Given the description of an element on the screen output the (x, y) to click on. 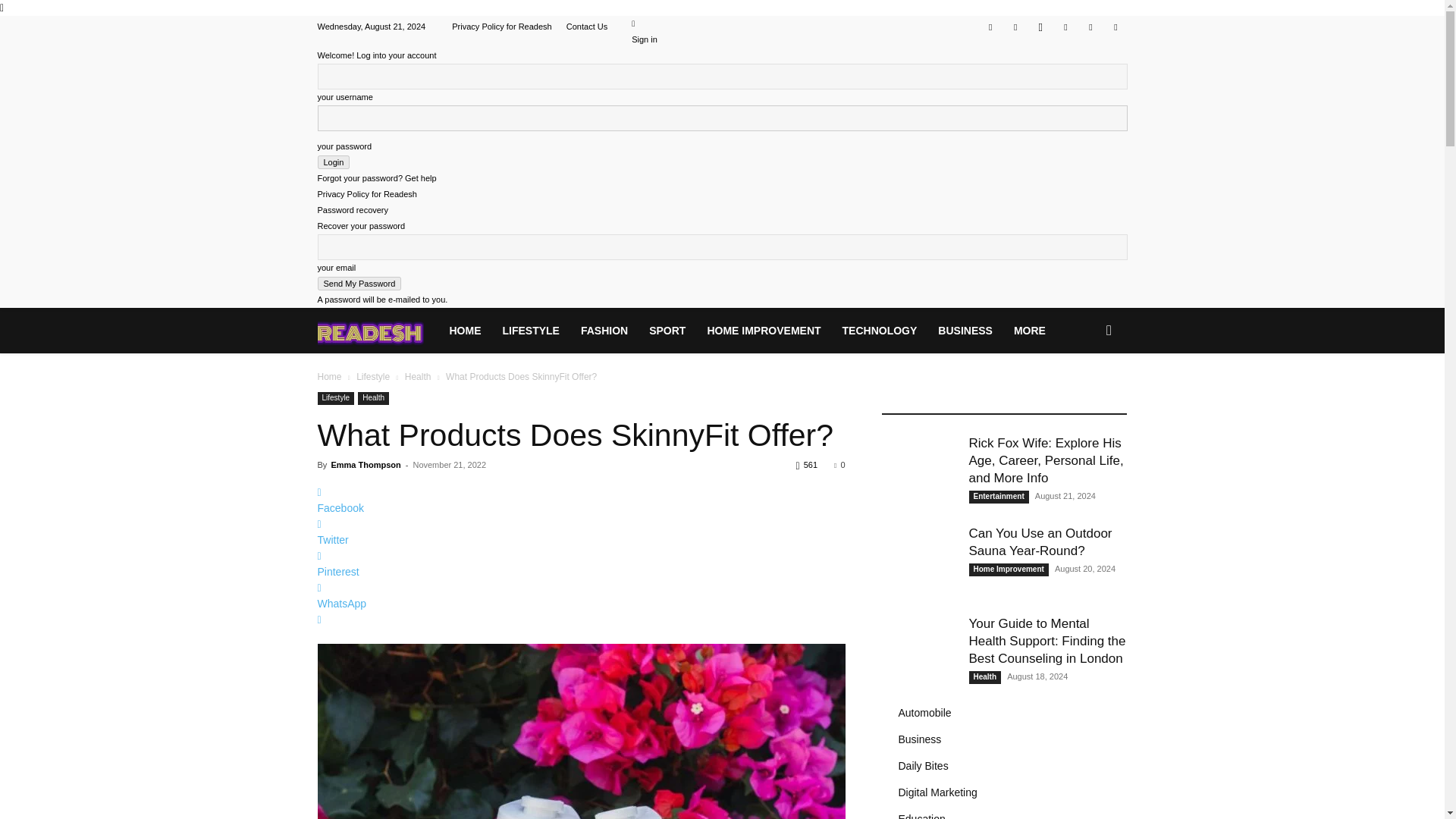
Facebook (1015, 25)
Privacy Policy for Readesh (366, 194)
VKontakte (1114, 25)
Forgot your password? Get help (376, 177)
Vimeo (1090, 25)
Readish Logo (370, 331)
Twitter (1065, 25)
Privacy Policy for Readesh (501, 26)
Instagram (1040, 25)
Behance (989, 25)
